Given the description of an element on the screen output the (x, y) to click on. 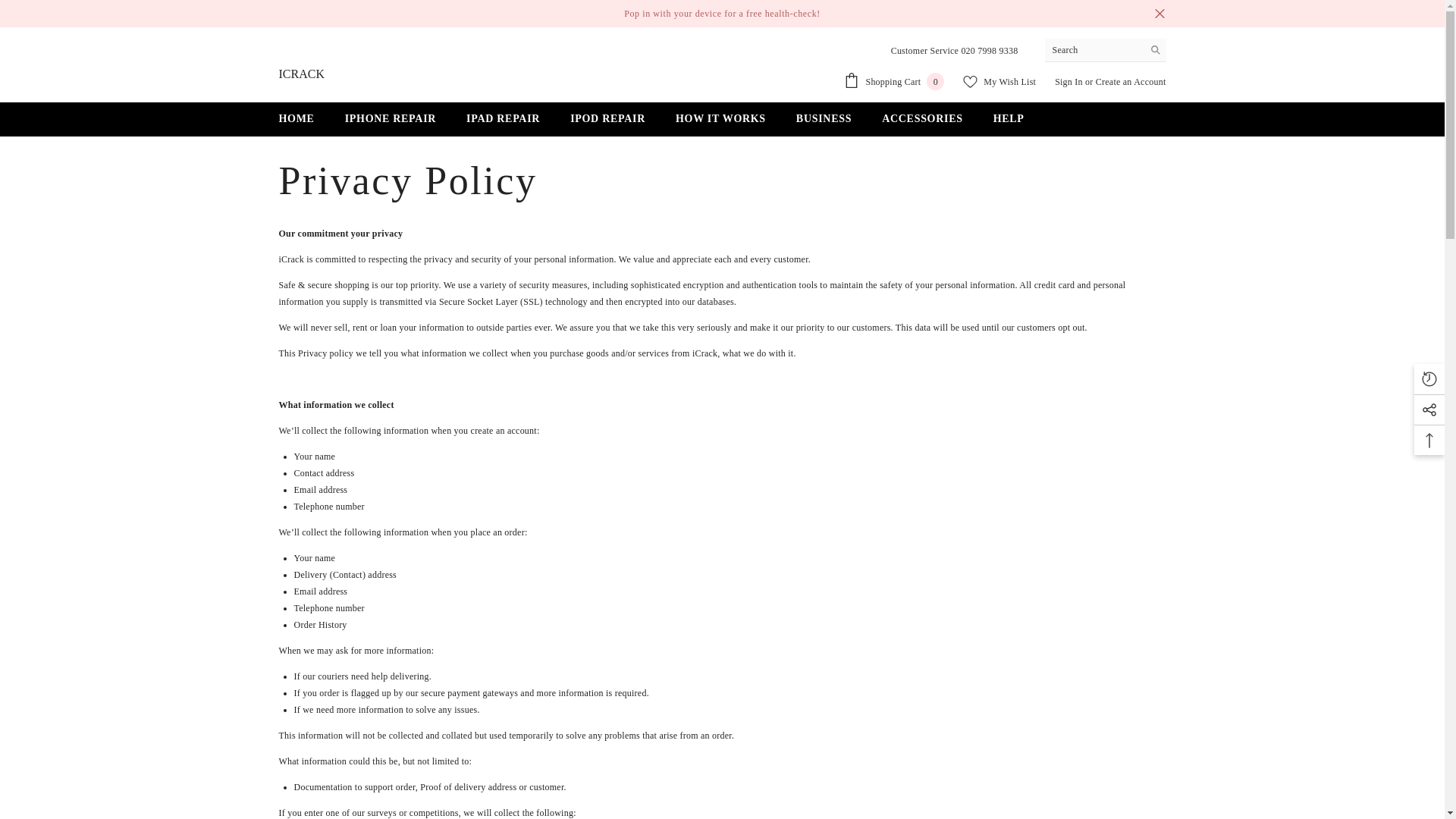
Sign In (1069, 81)
My Wish List (998, 81)
IPHONE REPAIR (390, 119)
HOME (296, 119)
Create an Account (1131, 81)
Opens a widget where you can chat to one of our agents (1386, 792)
Close (1159, 13)
